Given the description of an element on the screen output the (x, y) to click on. 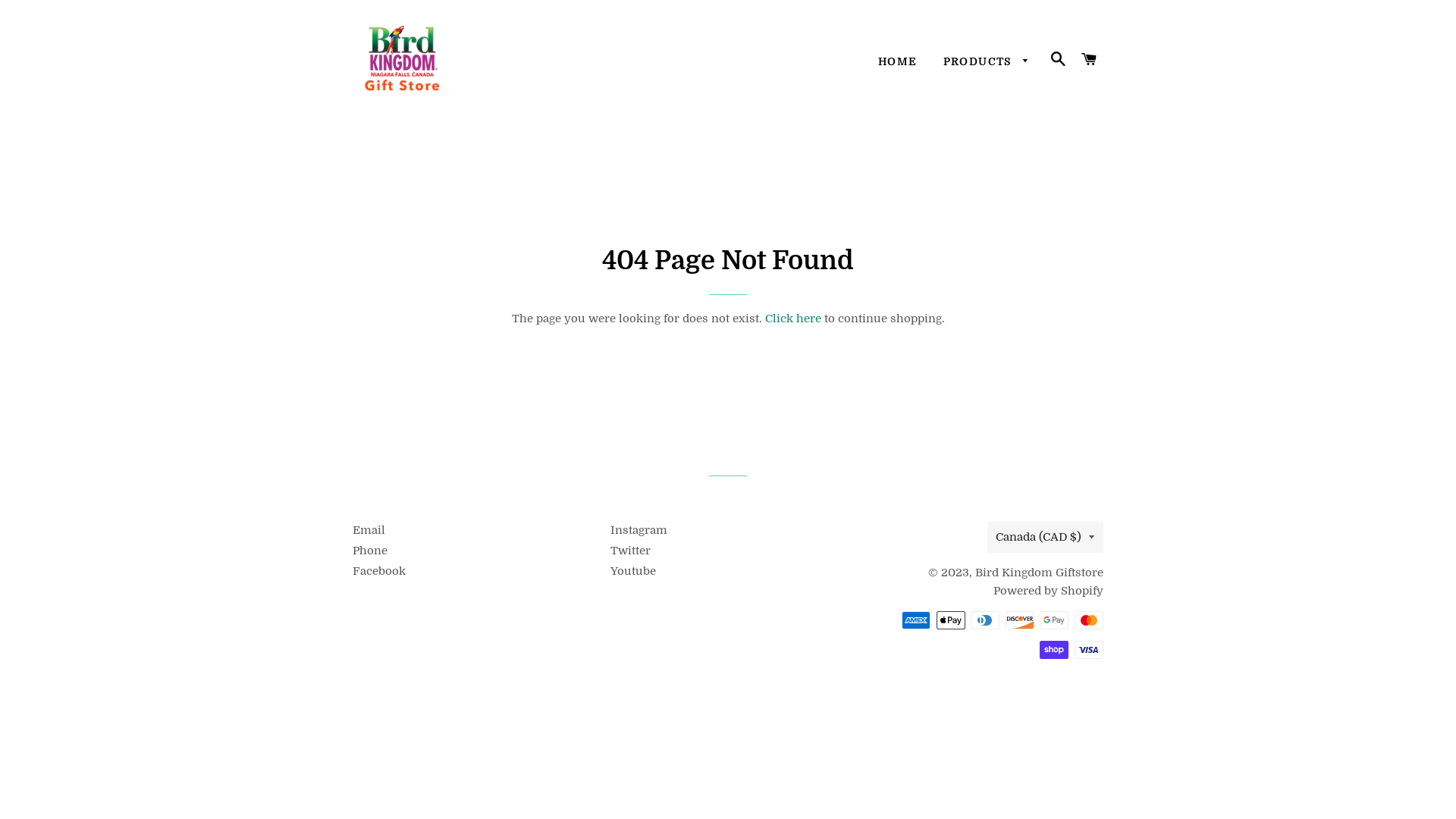
SEARCH Element type: text (1058, 60)
Youtube Element type: text (632, 570)
Phone Element type: text (369, 550)
Bird Kingdom Giftstore Element type: text (1039, 572)
Instagram Element type: text (638, 529)
Email Element type: text (368, 529)
Click here Element type: text (792, 318)
PRODUCTS Element type: text (986, 61)
Canada (CAD $) Element type: text (1045, 536)
HOME Element type: text (897, 61)
Twitter Element type: text (630, 550)
CART Element type: text (1089, 60)
Powered by Shopify Element type: text (1048, 590)
Facebook Element type: text (378, 570)
